Given the description of an element on the screen output the (x, y) to click on. 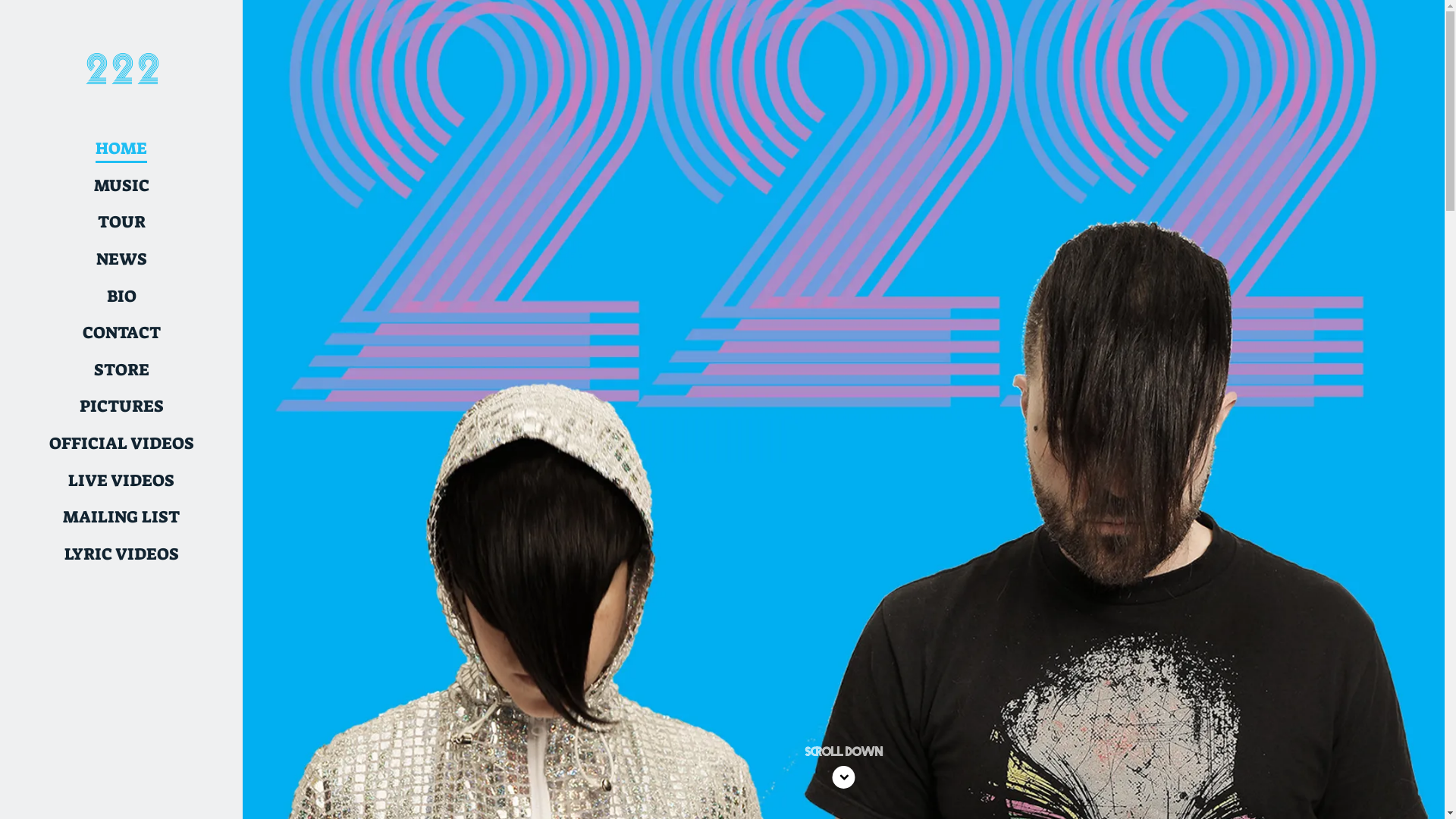
HOME Element type: text (121, 148)
CONTACT Element type: text (120, 333)
TOUR Element type: text (120, 222)
LIVE VIDEOS Element type: text (121, 480)
MUSIC Element type: text (121, 185)
LYRIC VIDEOS Element type: text (120, 554)
OFFICIAL VIDEOS Element type: text (120, 443)
STORE Element type: text (121, 370)
222 Element type: text (121, 76)
PICTURES Element type: text (120, 406)
NEWS Element type: text (120, 259)
MAILING LIST Element type: text (120, 517)
BIO Element type: text (120, 296)
